Given the description of an element on the screen output the (x, y) to click on. 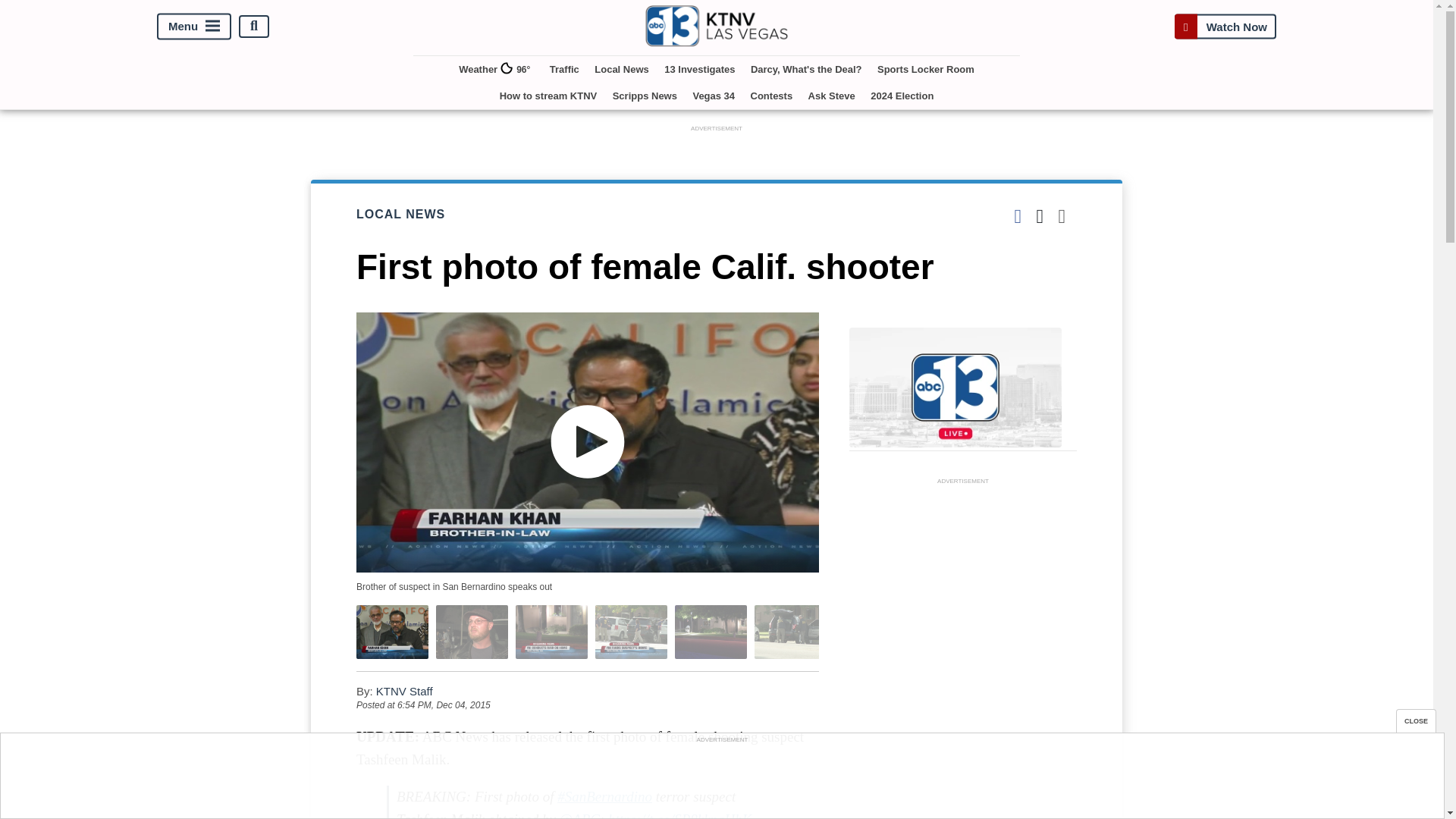
3rd party ad content (721, 780)
Menu (194, 26)
Watch Now (1224, 25)
3rd party ad content (962, 653)
